Given the description of an element on the screen output the (x, y) to click on. 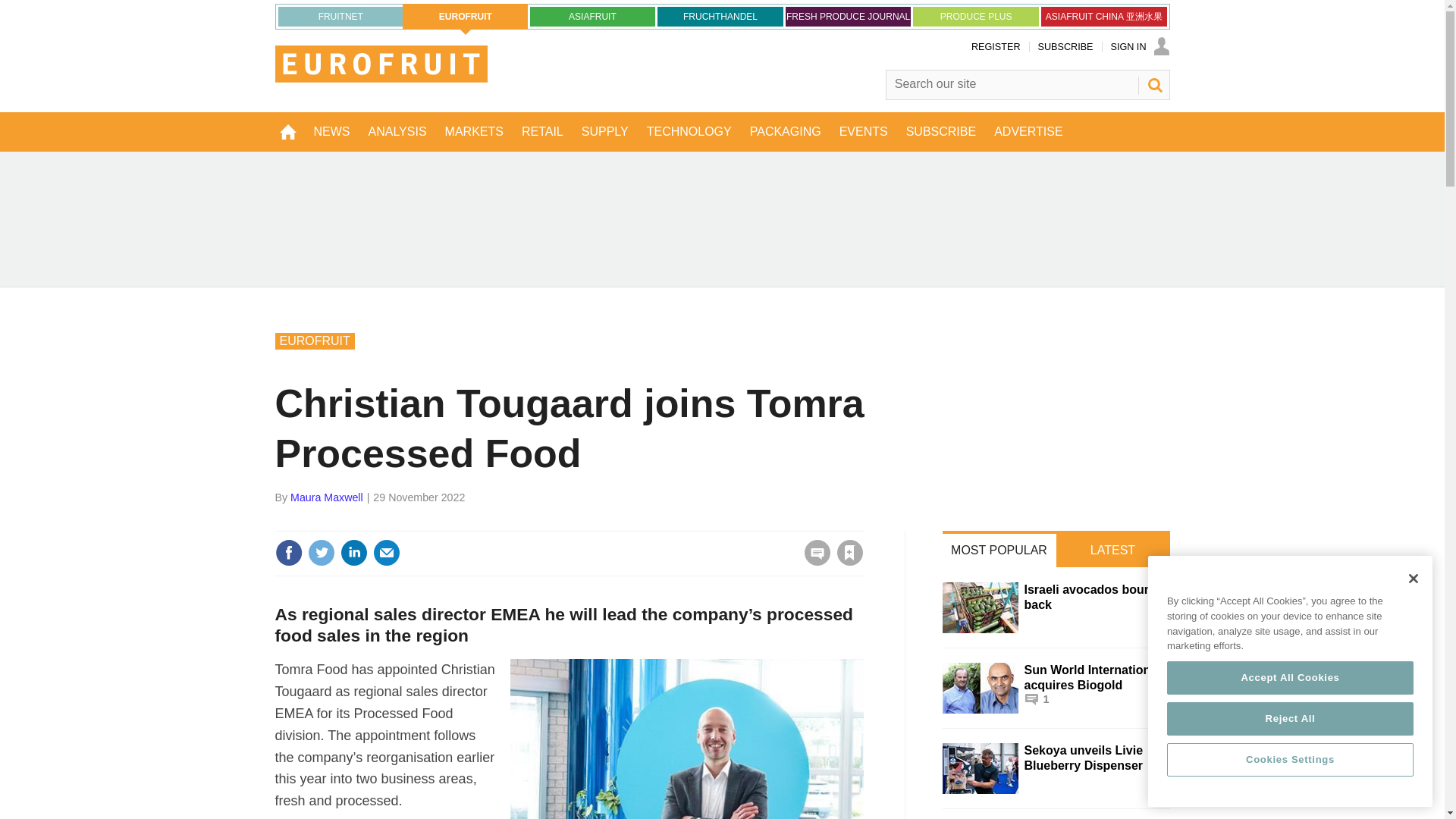
No comments (812, 561)
REGISTER (995, 46)
SEARCH (1153, 84)
NEWS (331, 131)
Share this on Facebook (288, 552)
Share this on Linked in (352, 552)
SIGN IN (1139, 46)
3rd party ad content (722, 218)
FRESH PRODUCE JOURNAL (848, 16)
Email this article (386, 552)
